Given the description of an element on the screen output the (x, y) to click on. 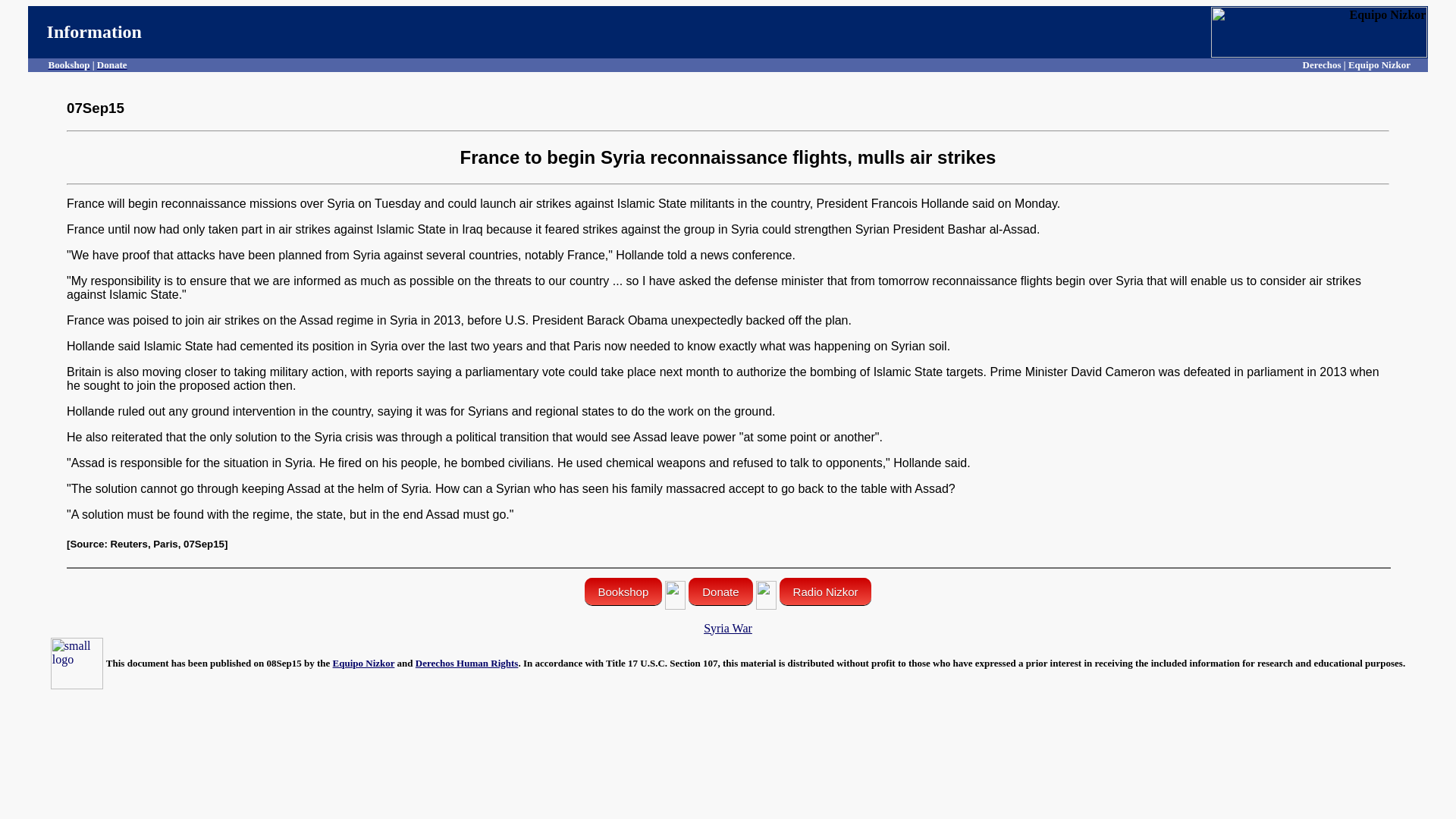
Derechos Human Rights (466, 663)
Syria War (727, 627)
Bookshop (69, 64)
Donate (112, 64)
Donate (720, 591)
Radio Nizkor (825, 591)
Equipo Nizkor (363, 663)
Bookshop (623, 591)
